Given the description of an element on the screen output the (x, y) to click on. 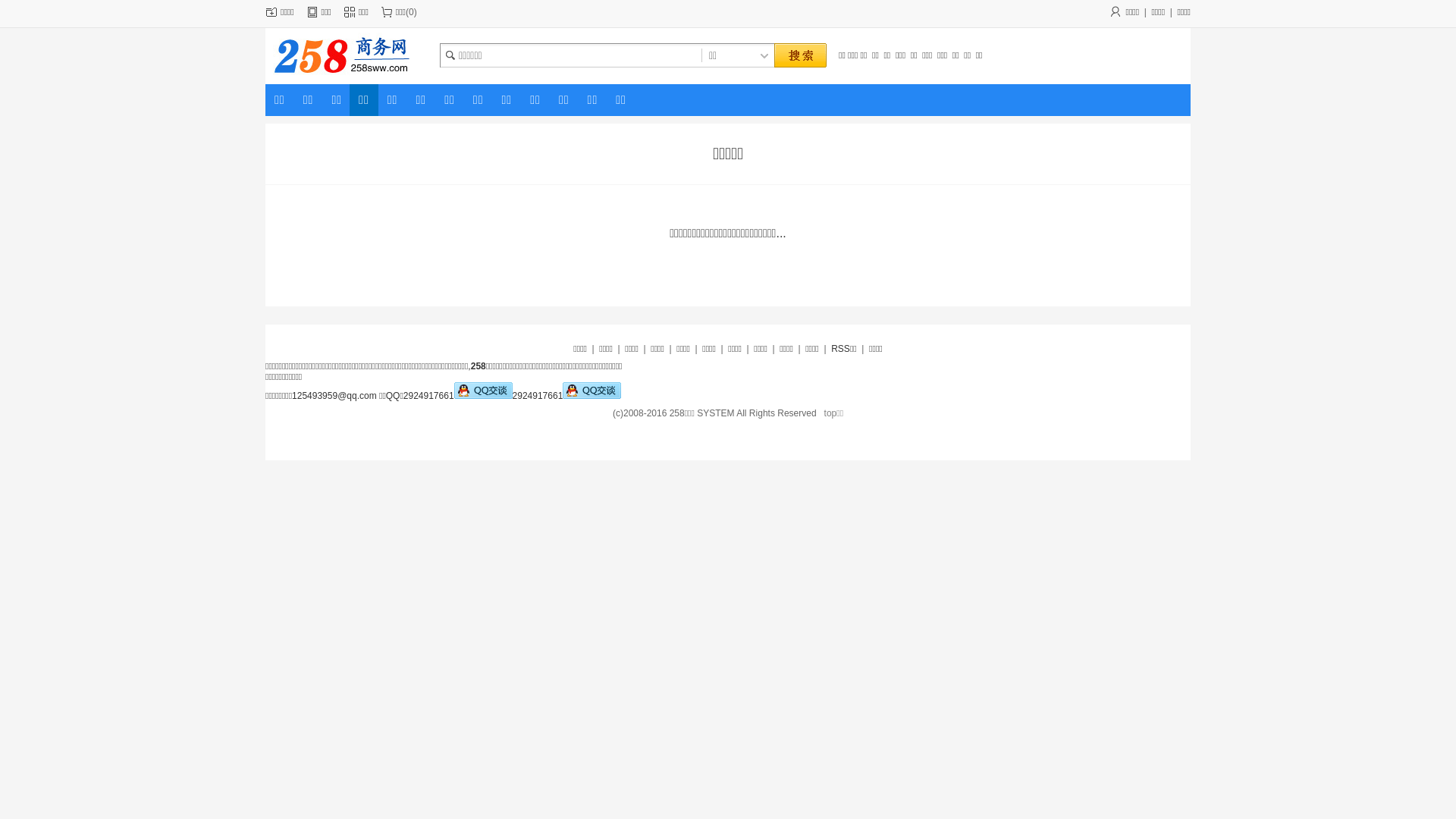
  Element type: text (799, 56)
